Given the description of an element on the screen output the (x, y) to click on. 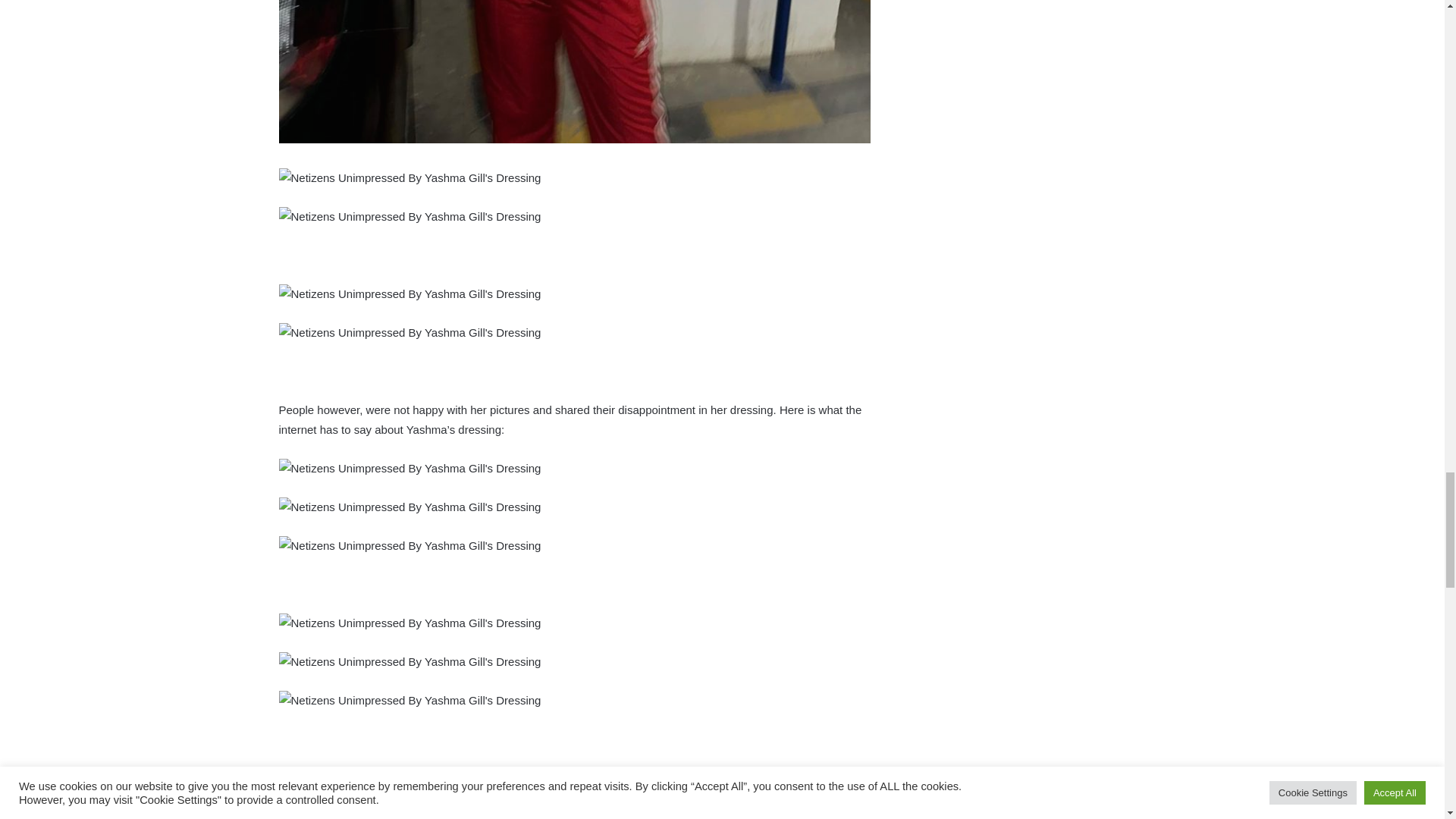
Netizens Unimpressed By Yashma Gill's Dressing (410, 178)
Netizens Unimpressed By Yashma Gill's Dressing (574, 71)
